Given the description of an element on the screen output the (x, y) to click on. 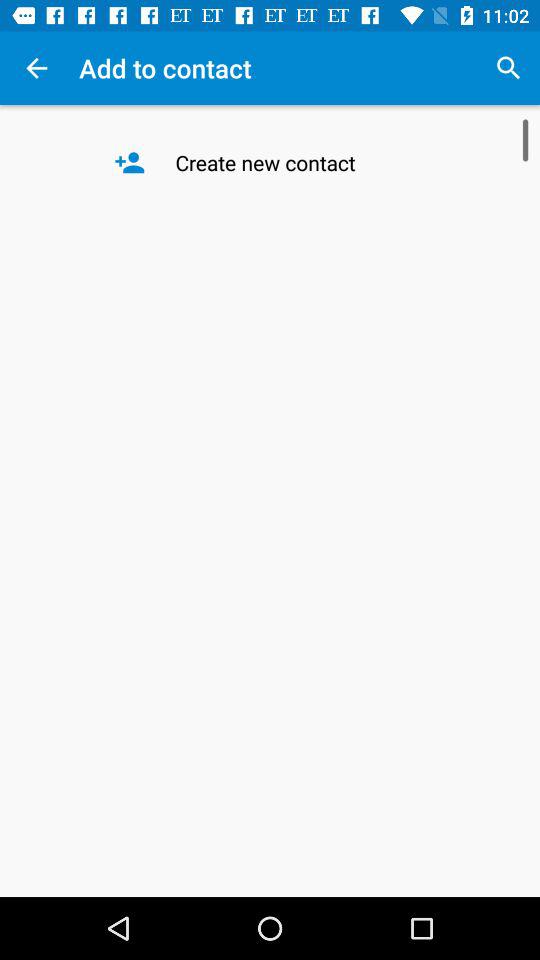
turn off the icon to the right of add to contact (508, 67)
